Given the description of an element on the screen output the (x, y) to click on. 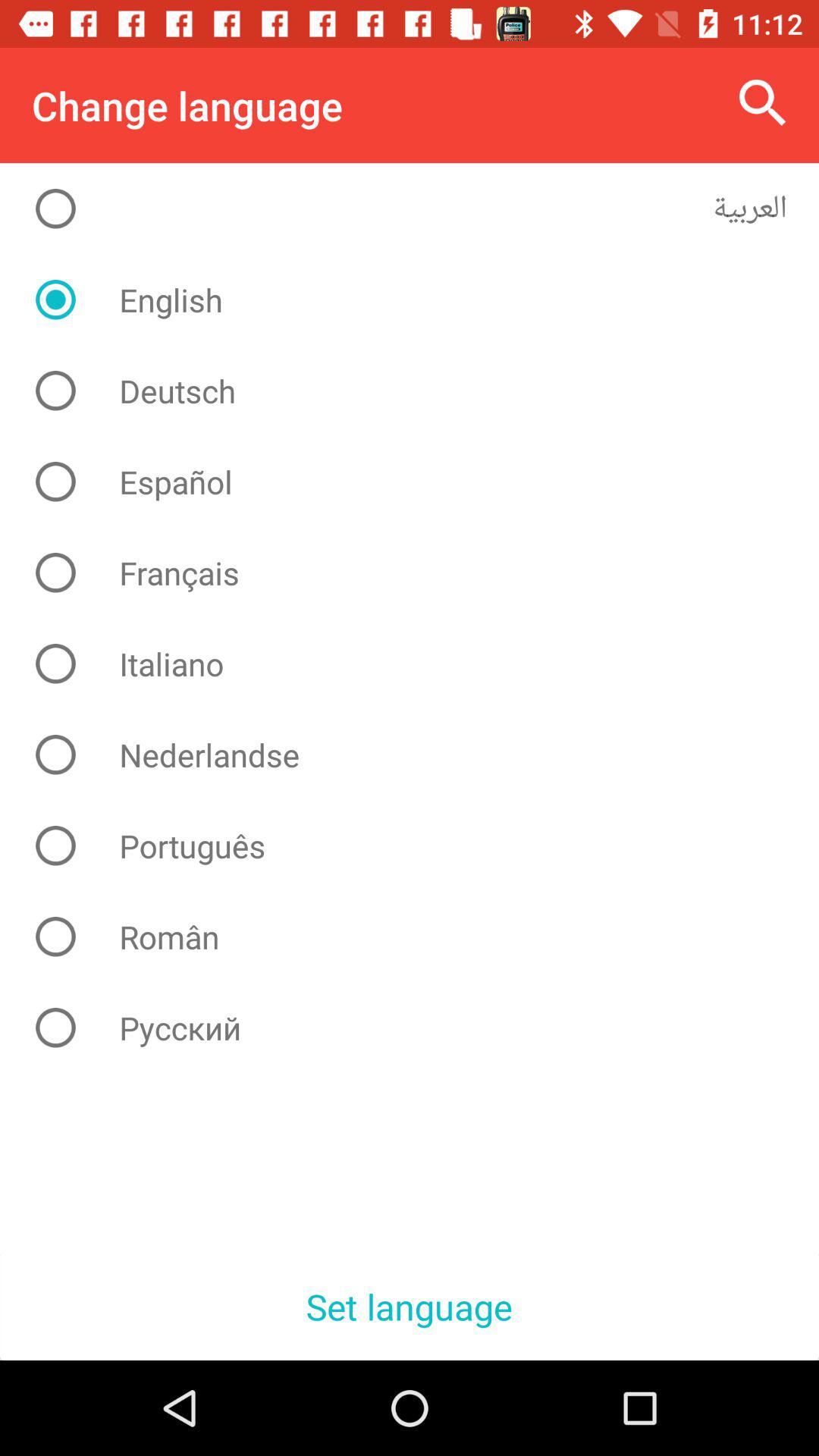
open item above set language (421, 1027)
